Given the description of an element on the screen output the (x, y) to click on. 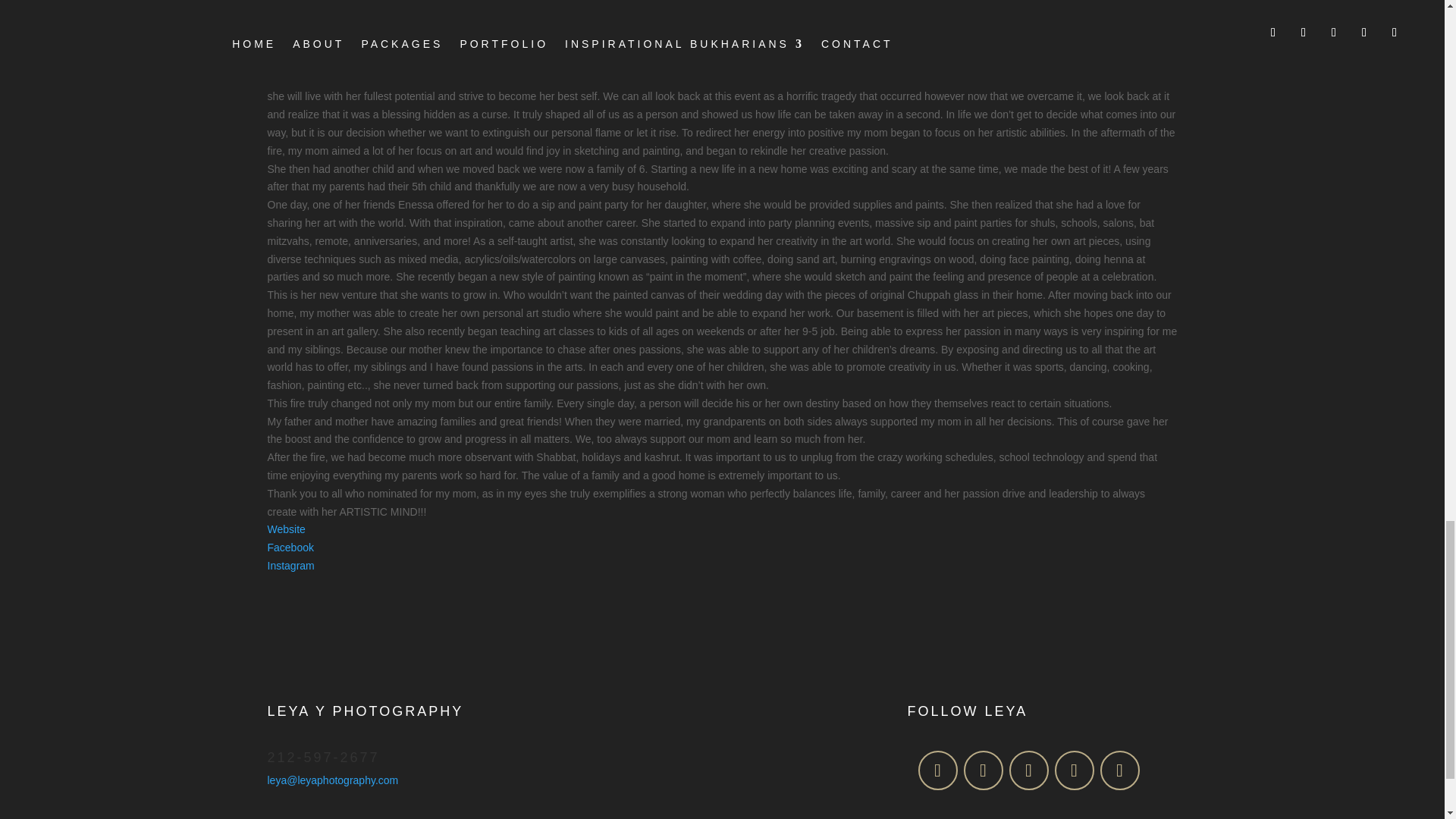
Follow on Facebook (936, 770)
Instagram (290, 565)
Follow on Youtube (1118, 770)
Website (285, 529)
Follow on TikTok (1028, 770)
Follow on Instagram (982, 770)
Facebook (289, 547)
Leya Photography (720, 753)
Follow on LinkedIn (1073, 770)
